Given the description of an element on the screen output the (x, y) to click on. 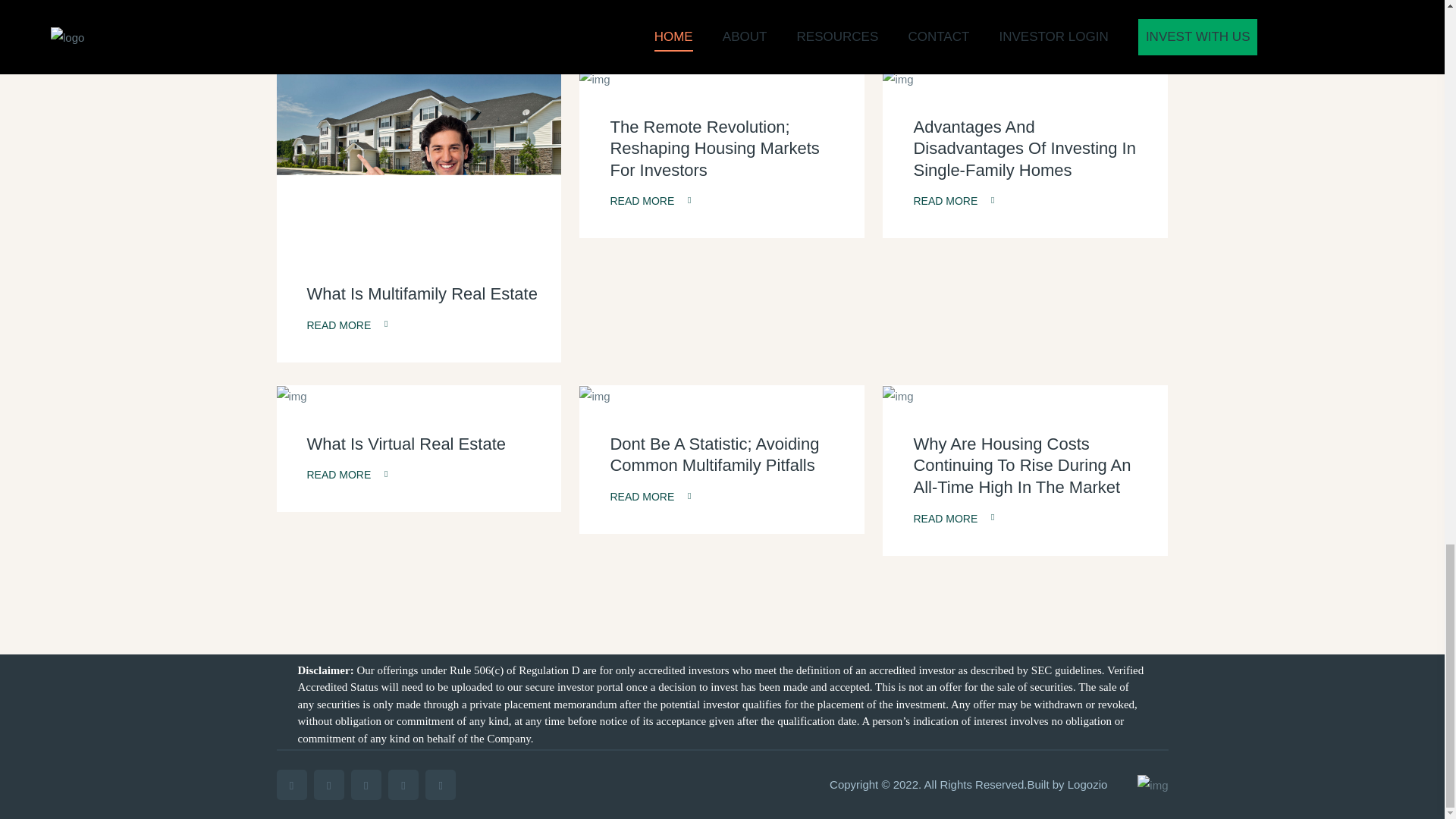
READ MORE (953, 200)
READ MORE (650, 496)
What Is Virtual Real Estate (405, 443)
What Is Multifamily Real Estate (421, 293)
READ MORE (346, 324)
Dont Be A Statistic; Avoiding Common Multifamily Pitfalls (714, 454)
READ MORE (953, 518)
